Given the description of an element on the screen output the (x, y) to click on. 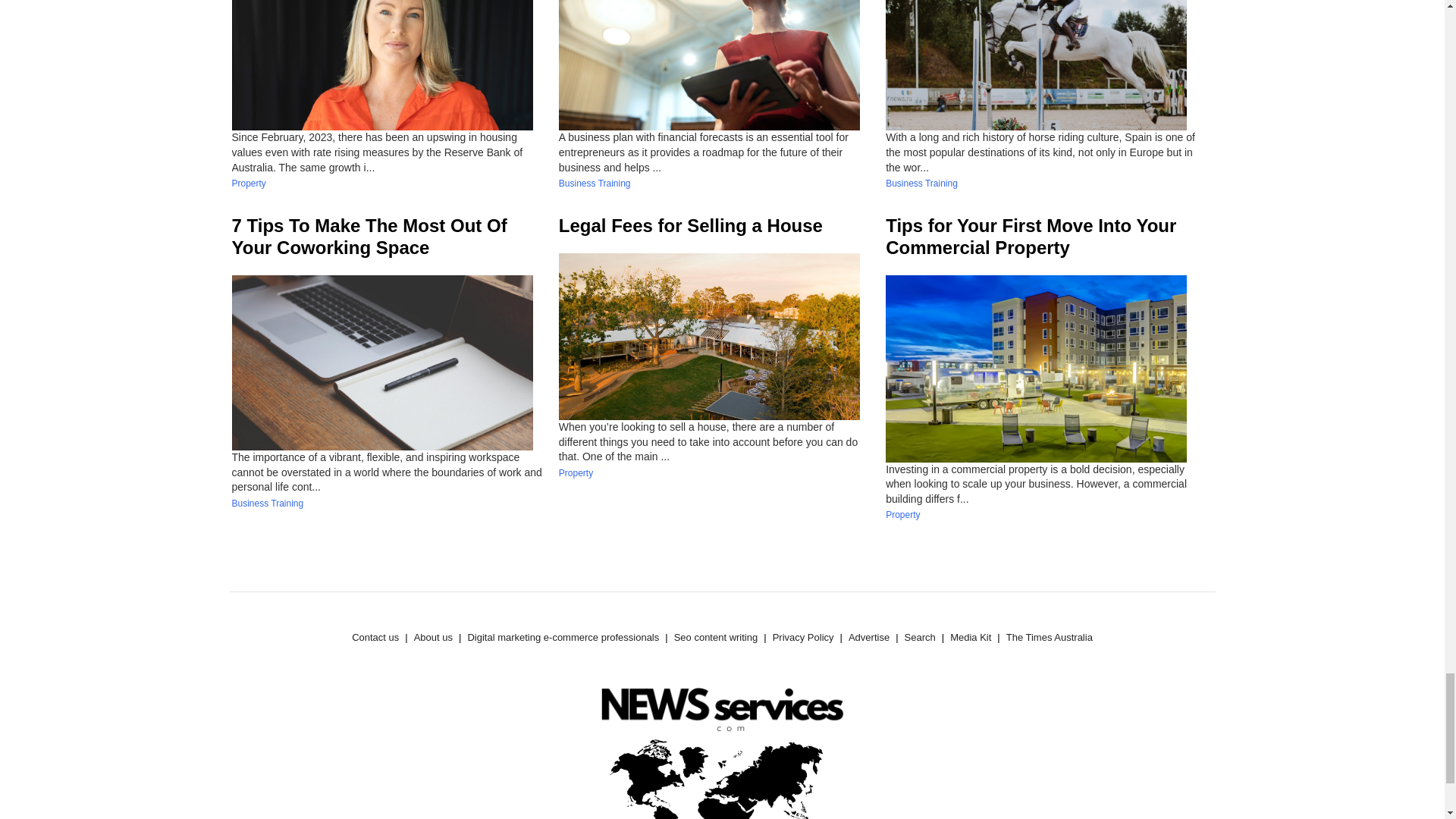
Legal Fees for Selling a House (690, 225)
7 Tips To Make The Most Out Of Your Coworking Space (368, 236)
Tips for Your First Move Into Your Commercial Property (1030, 236)
